Given the description of an element on the screen output the (x, y) to click on. 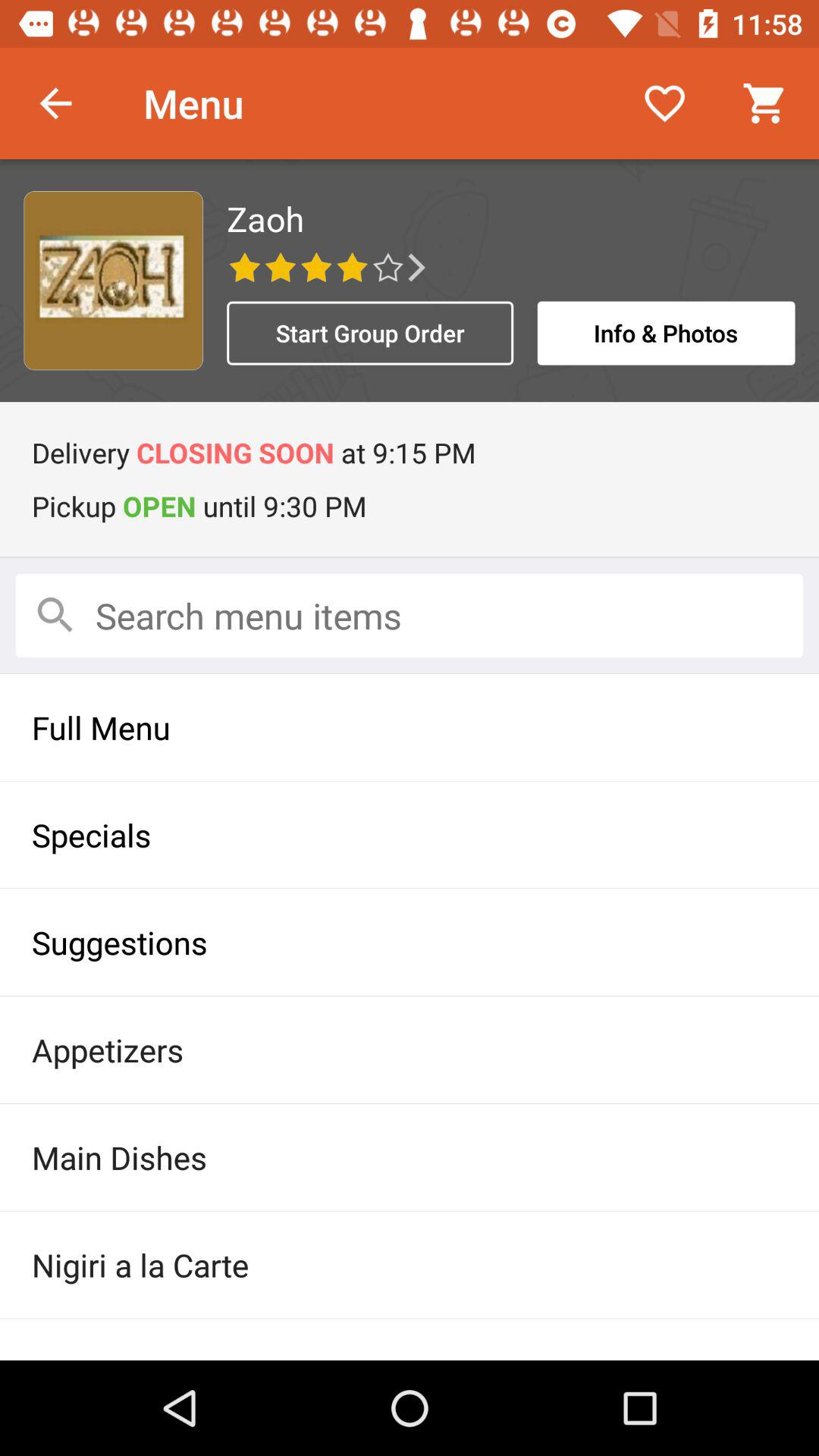
press item above suggestions icon (409, 834)
